Given the description of an element on the screen output the (x, y) to click on. 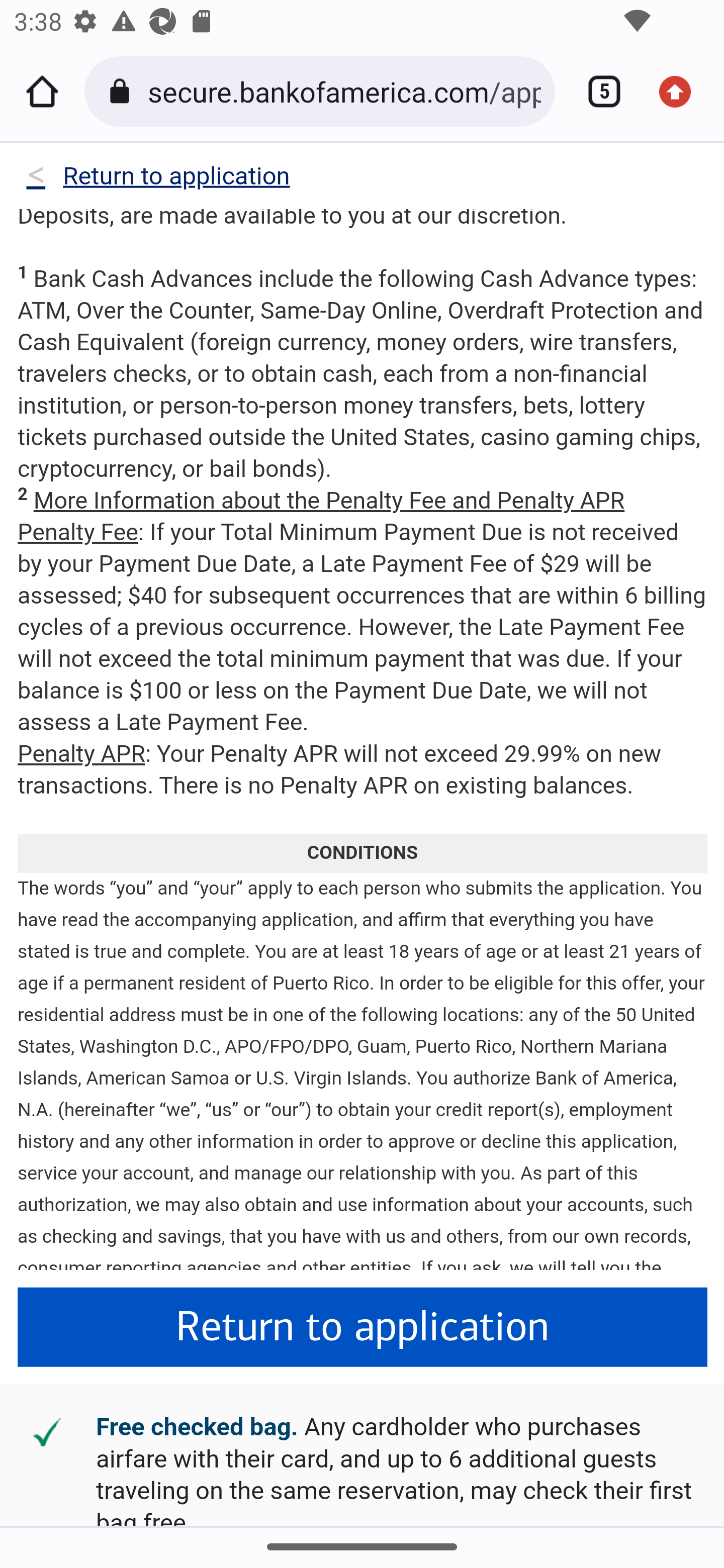
Home (42, 91)
Connection is secure (122, 91)
Switch or close tabs (597, 91)
Update available. More options (681, 91)
<Return to application < Return to application (157, 180)
Return to application (362, 1327)
